Given the description of an element on the screen output the (x, y) to click on. 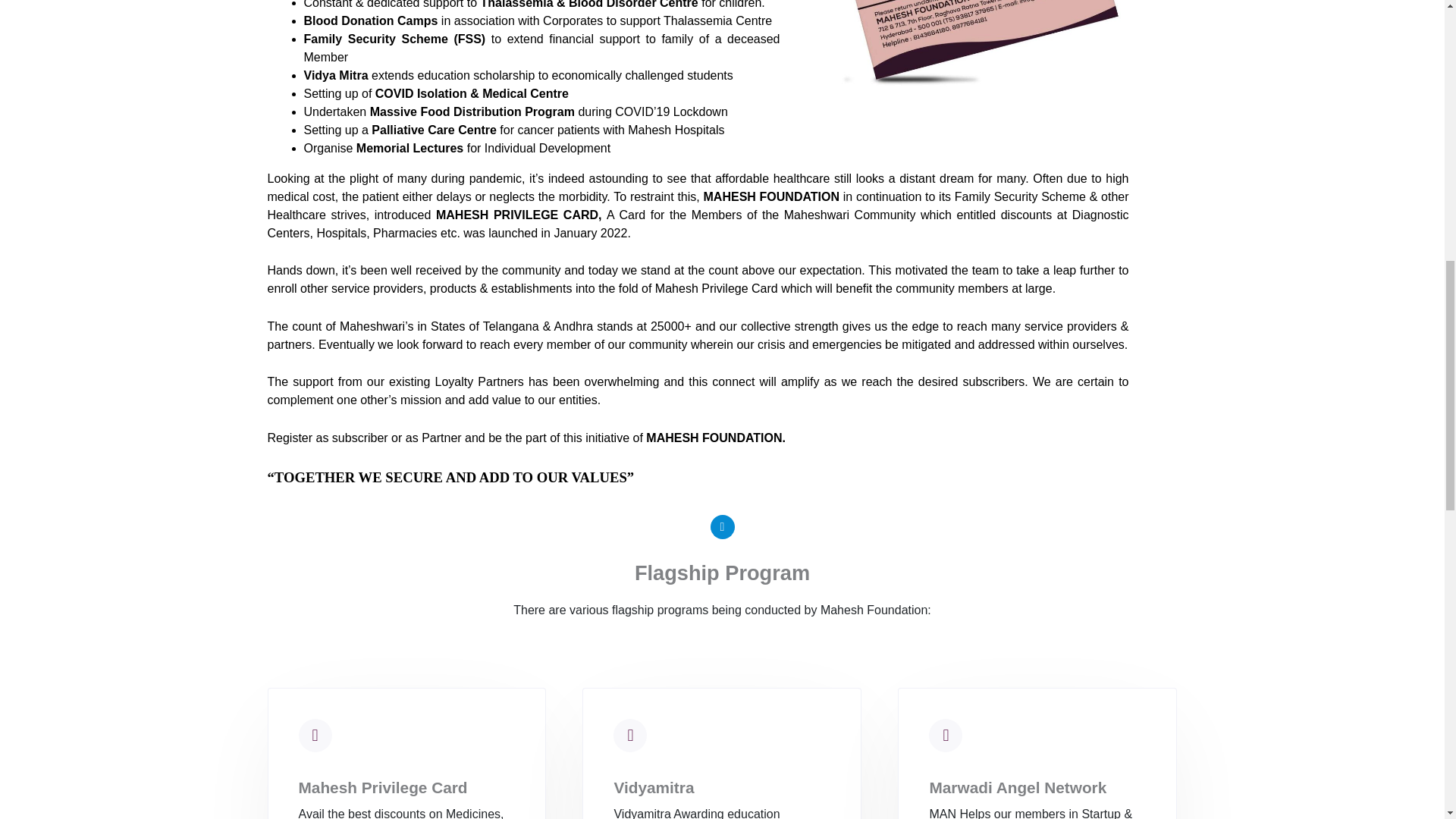
Marwadi Angel Network (1017, 787)
Vidyamitra (653, 787)
